Given the description of an element on the screen output the (x, y) to click on. 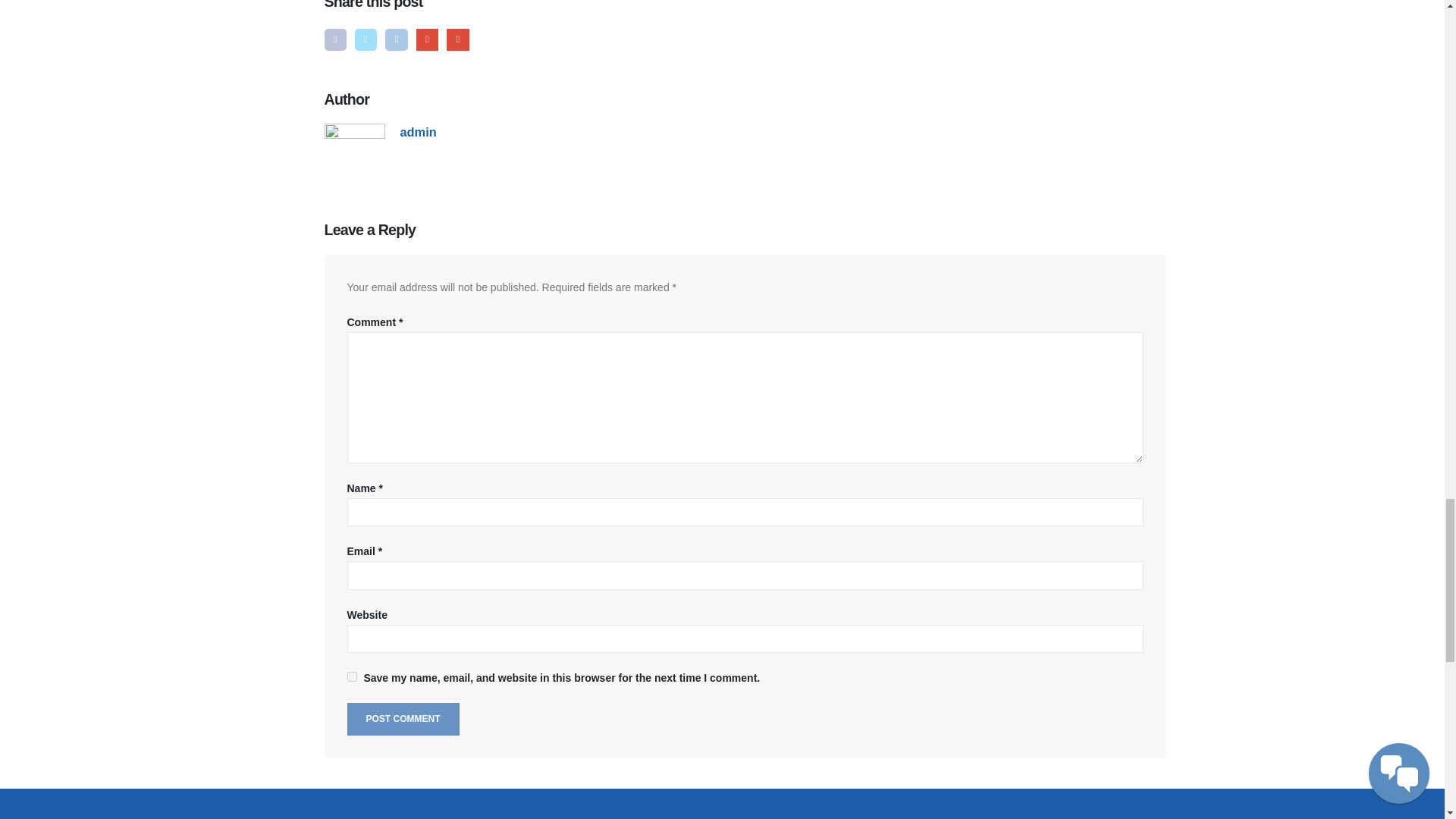
Post Comment (403, 718)
yes (351, 676)
